Given the description of an element on the screen output the (x, y) to click on. 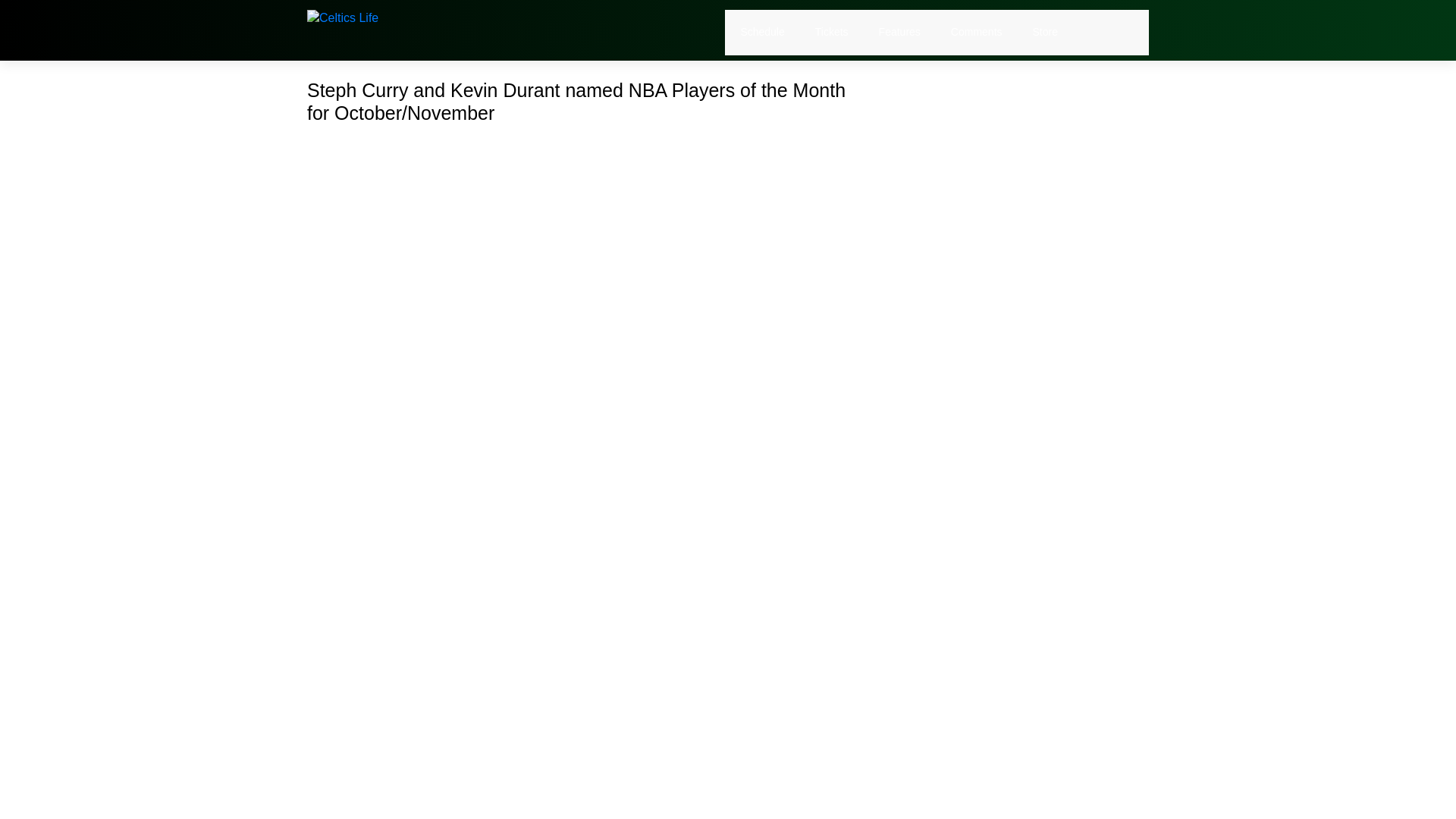
Schedule (761, 32)
Comments (976, 32)
Features (899, 32)
